Given the description of an element on the screen output the (x, y) to click on. 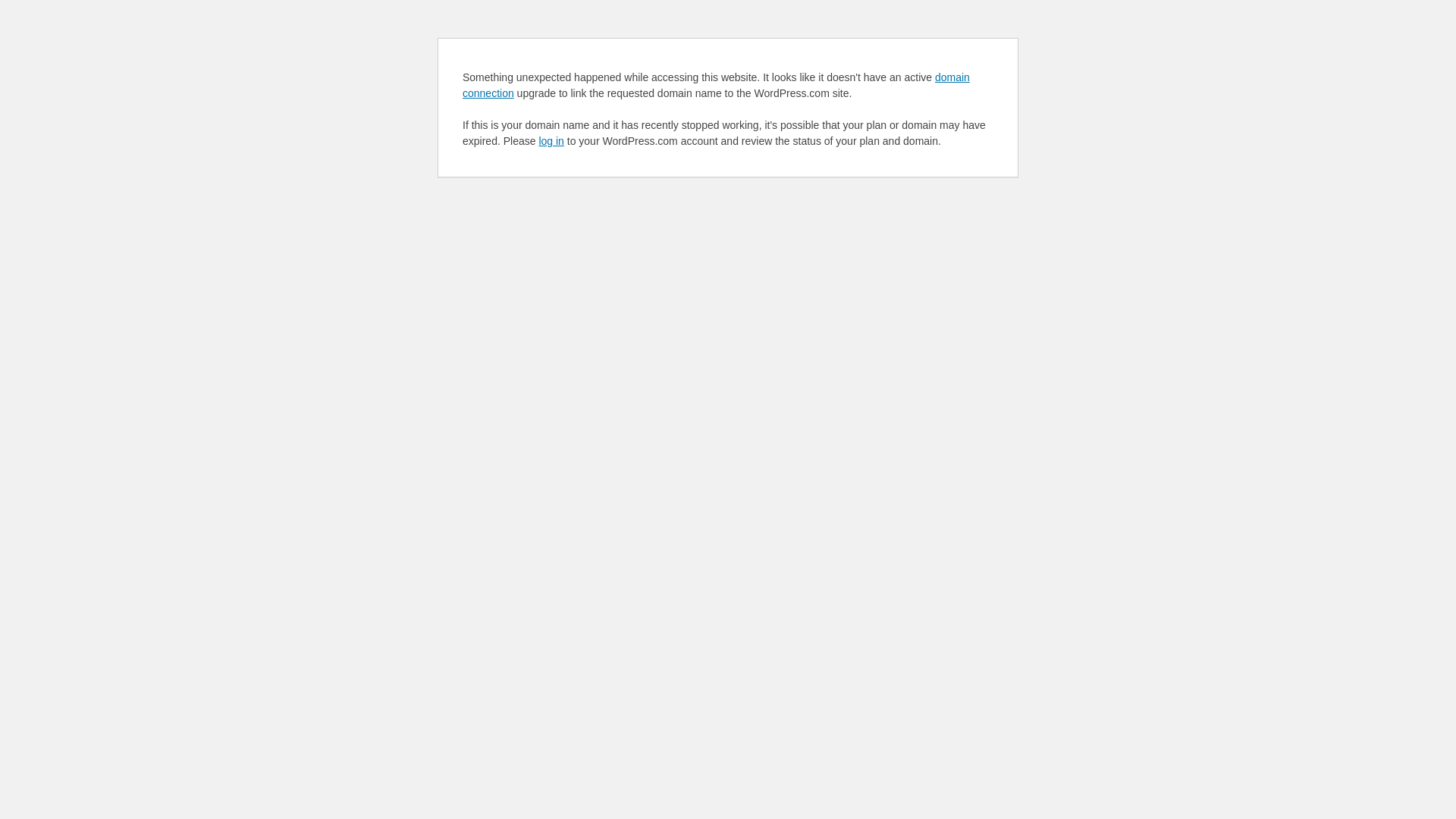
log in Element type: text (550, 140)
domain connection Element type: text (715, 85)
